Given the description of an element on the screen output the (x, y) to click on. 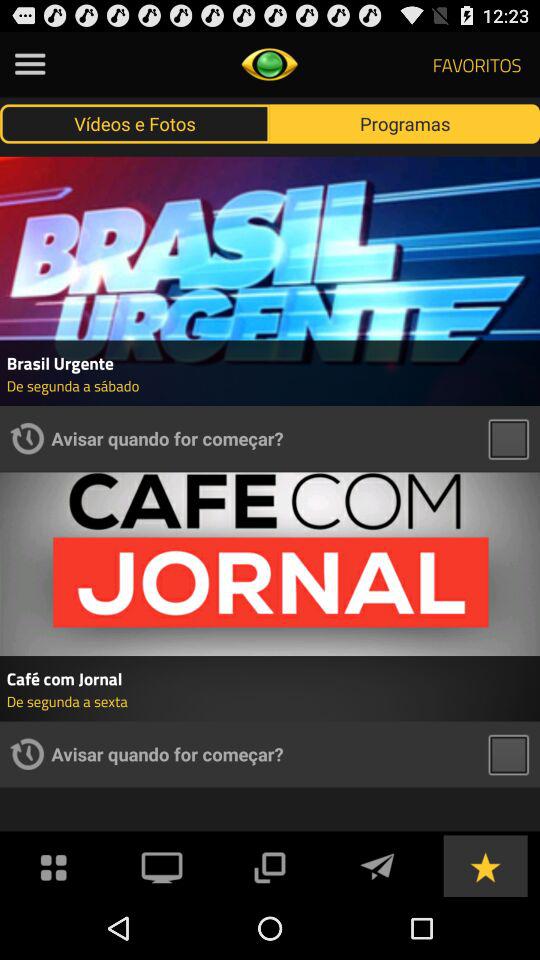
drop down option (269, 865)
